Given the description of an element on the screen output the (x, y) to click on. 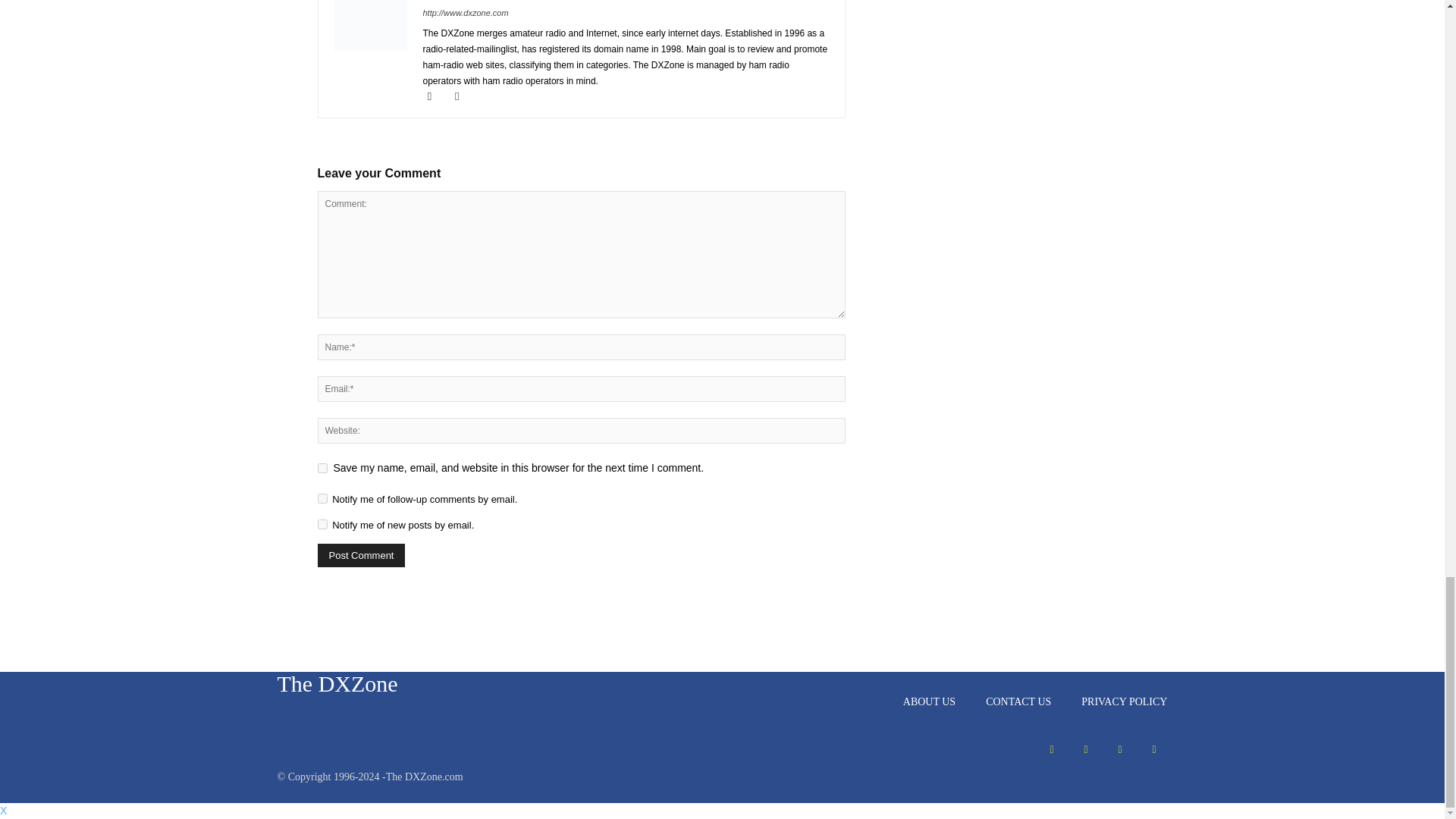
subscribe (321, 524)
yes (321, 468)
Post Comment (360, 555)
subscribe (321, 498)
